Given the description of an element on the screen output the (x, y) to click on. 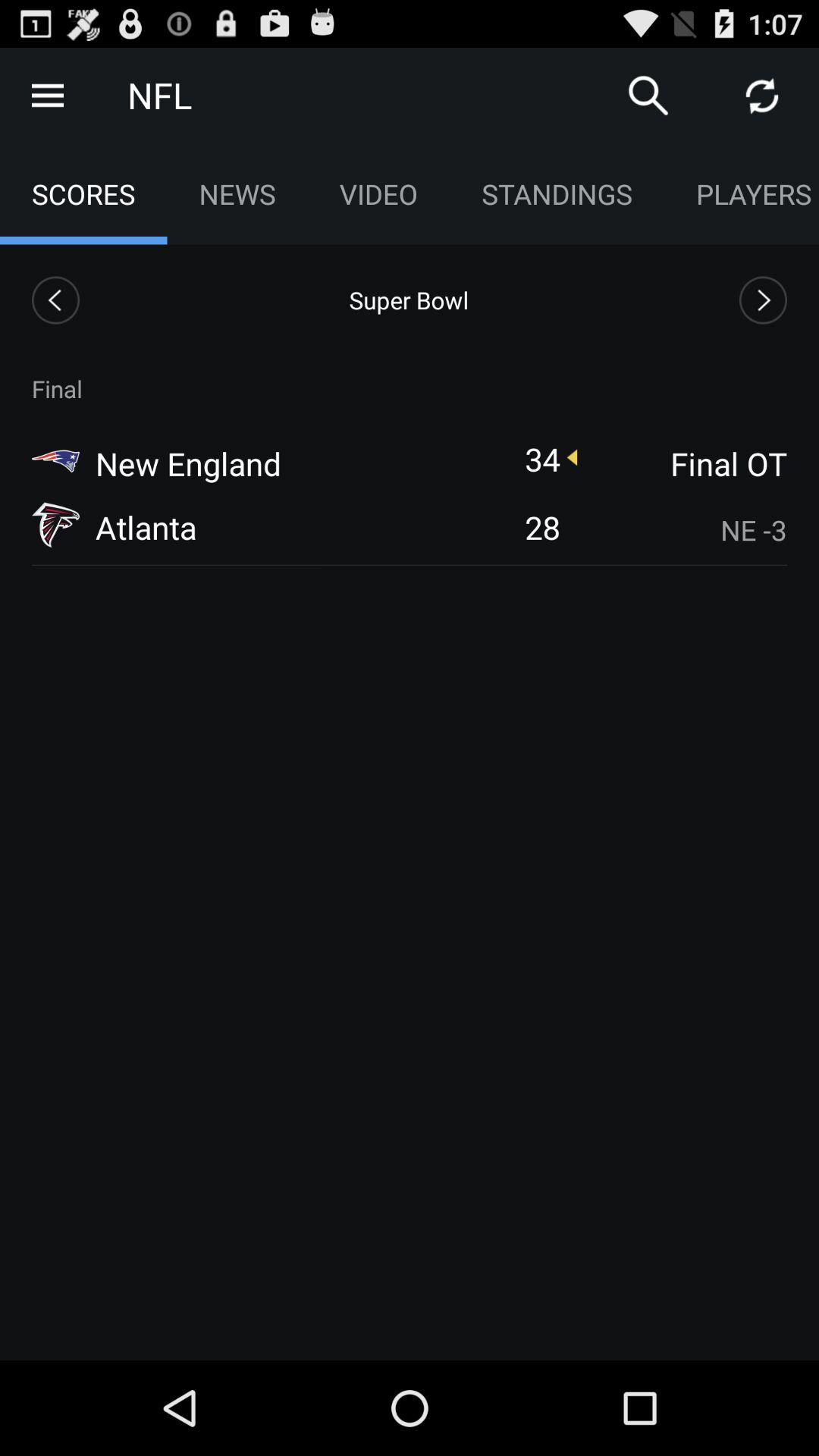
select icon above atlanta (188, 463)
